Given the description of an element on the screen output the (x, y) to click on. 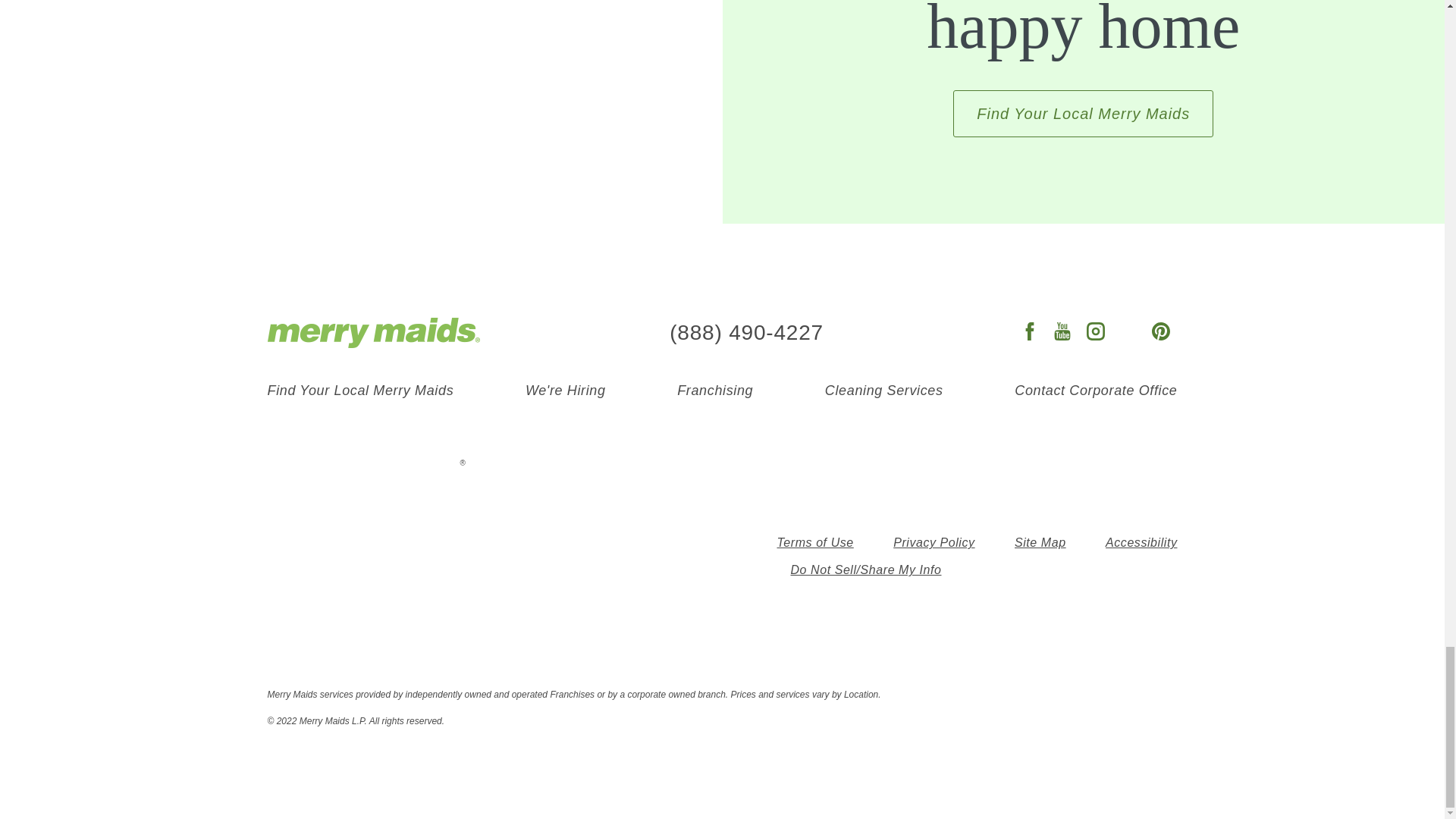
Merry Maids (372, 332)
Instagram (1095, 332)
Twitter (1128, 332)
Facebook (1029, 332)
Pinterest (1160, 332)
YouTube (1062, 332)
